Given the description of an element on the screen output the (x, y) to click on. 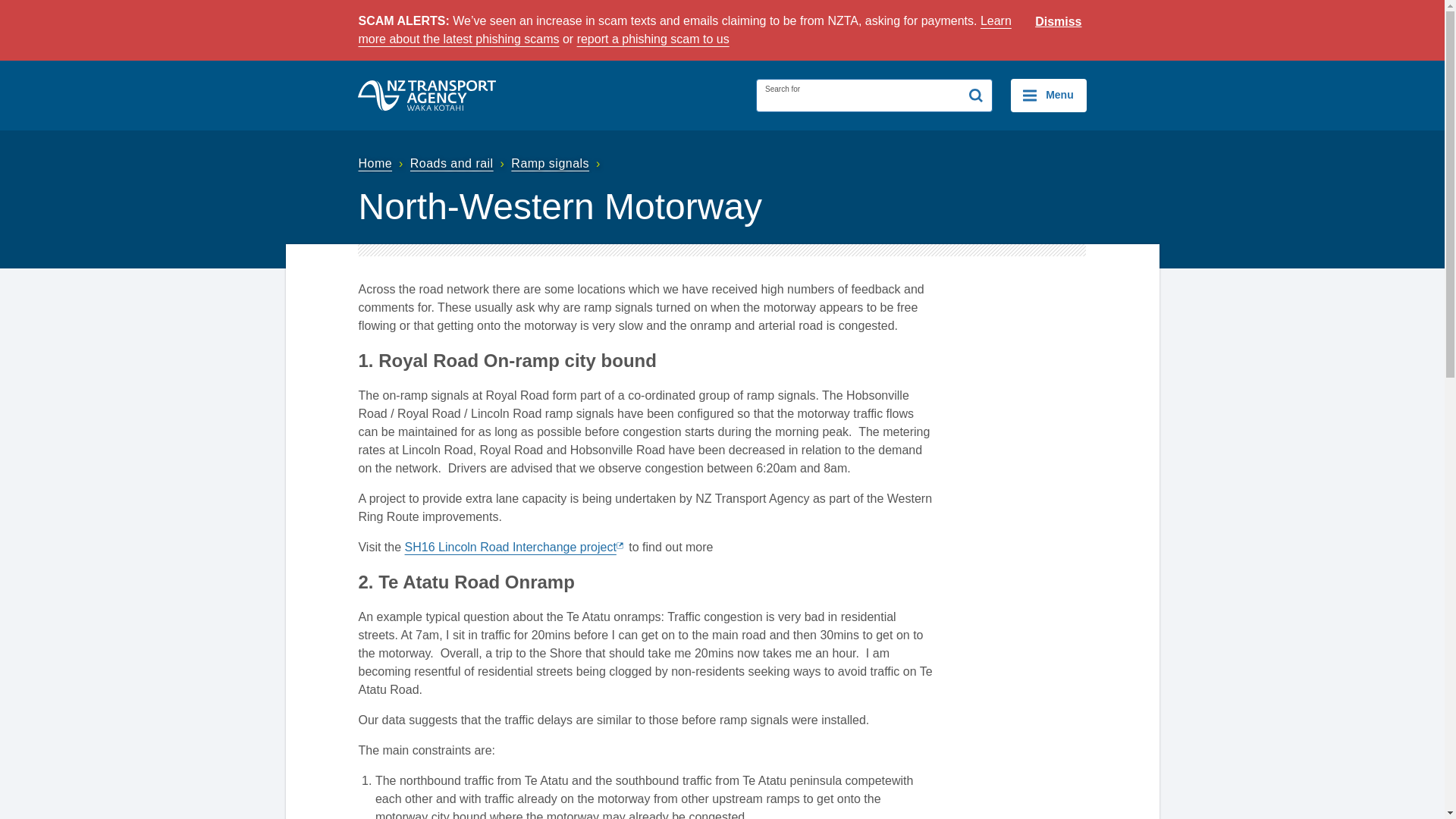
Dismiss (1058, 21)
report a phishing scam to us (652, 38)
Menu (1048, 95)
Learn more about the latest phishing scams (684, 29)
Roads and rail (459, 163)
Ramp signals (556, 163)
NZ Transport Agency Waka Kotahi (427, 95)
Home (382, 163)
